Given the description of an element on the screen output the (x, y) to click on. 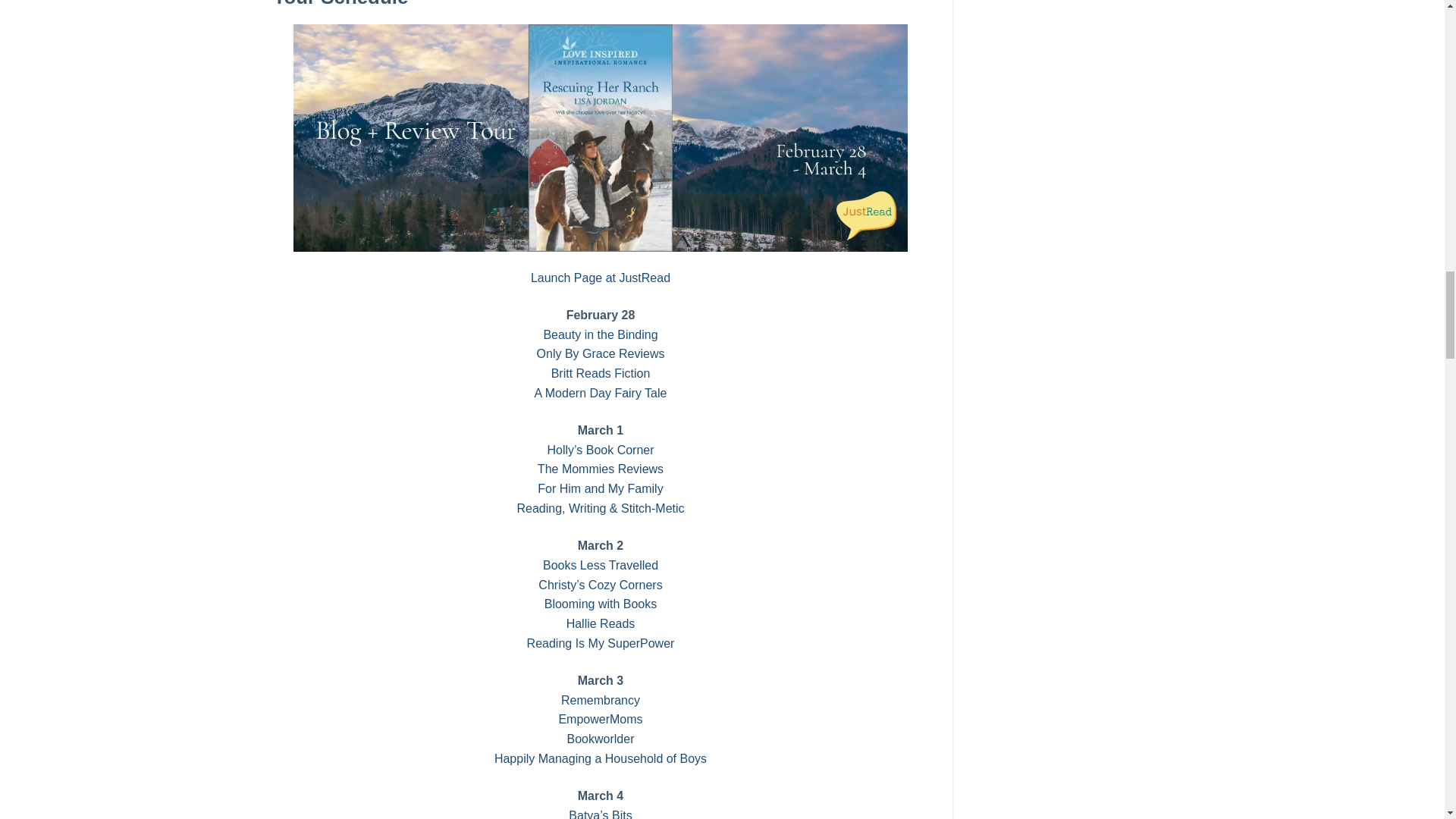
Launch Page at JustRead (600, 277)
Beauty in the Binding (600, 334)
A Modern Day Fairy Tale (600, 392)
Britt Reads Fiction (600, 373)
Only By Grace Reviews (601, 353)
